Given the description of an element on the screen output the (x, y) to click on. 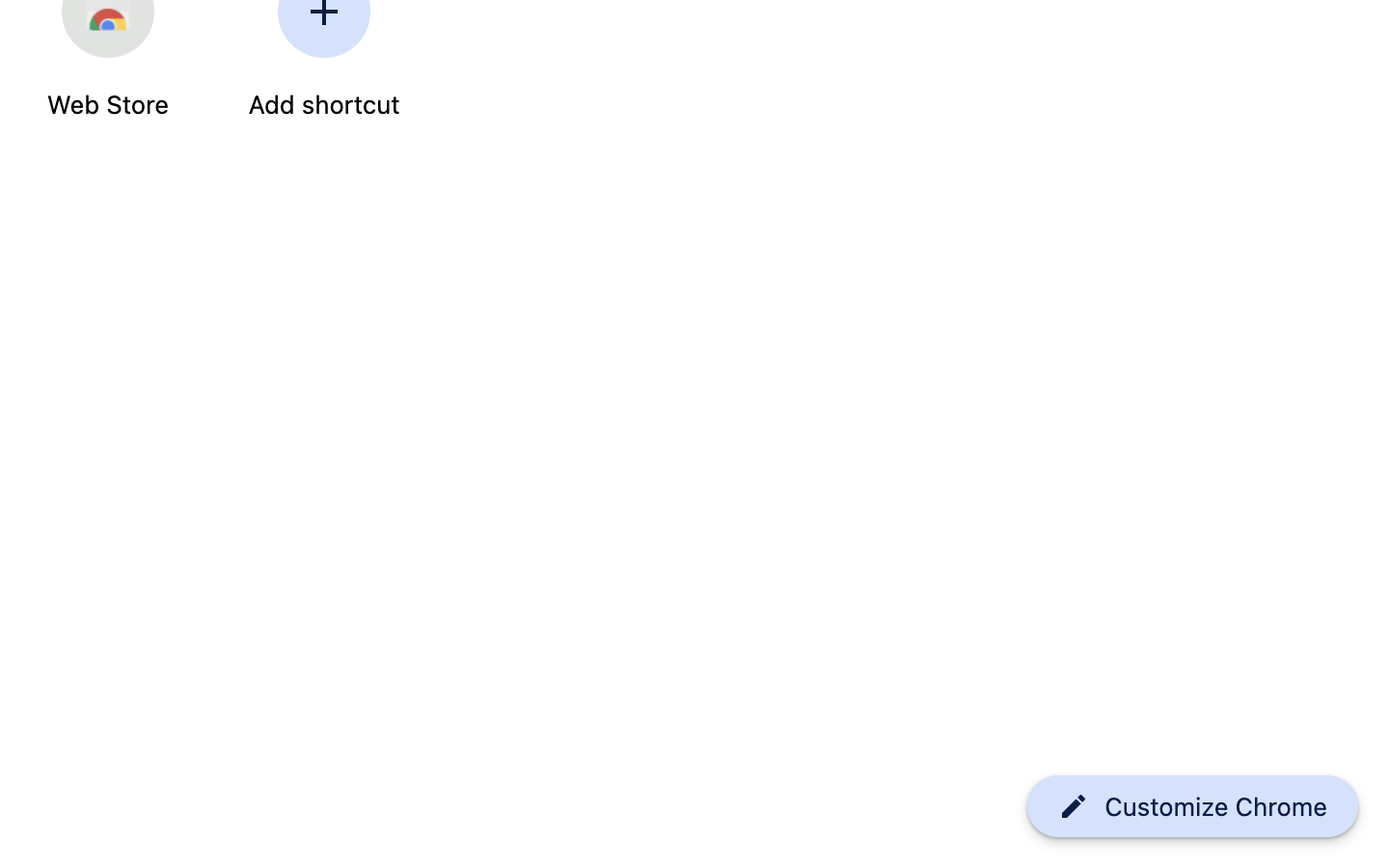
Web Store Element type: AXStaticText (107, 104)
Customize Chrome Element type: AXStaticText (1216, 806)
